Given the description of an element on the screen output the (x, y) to click on. 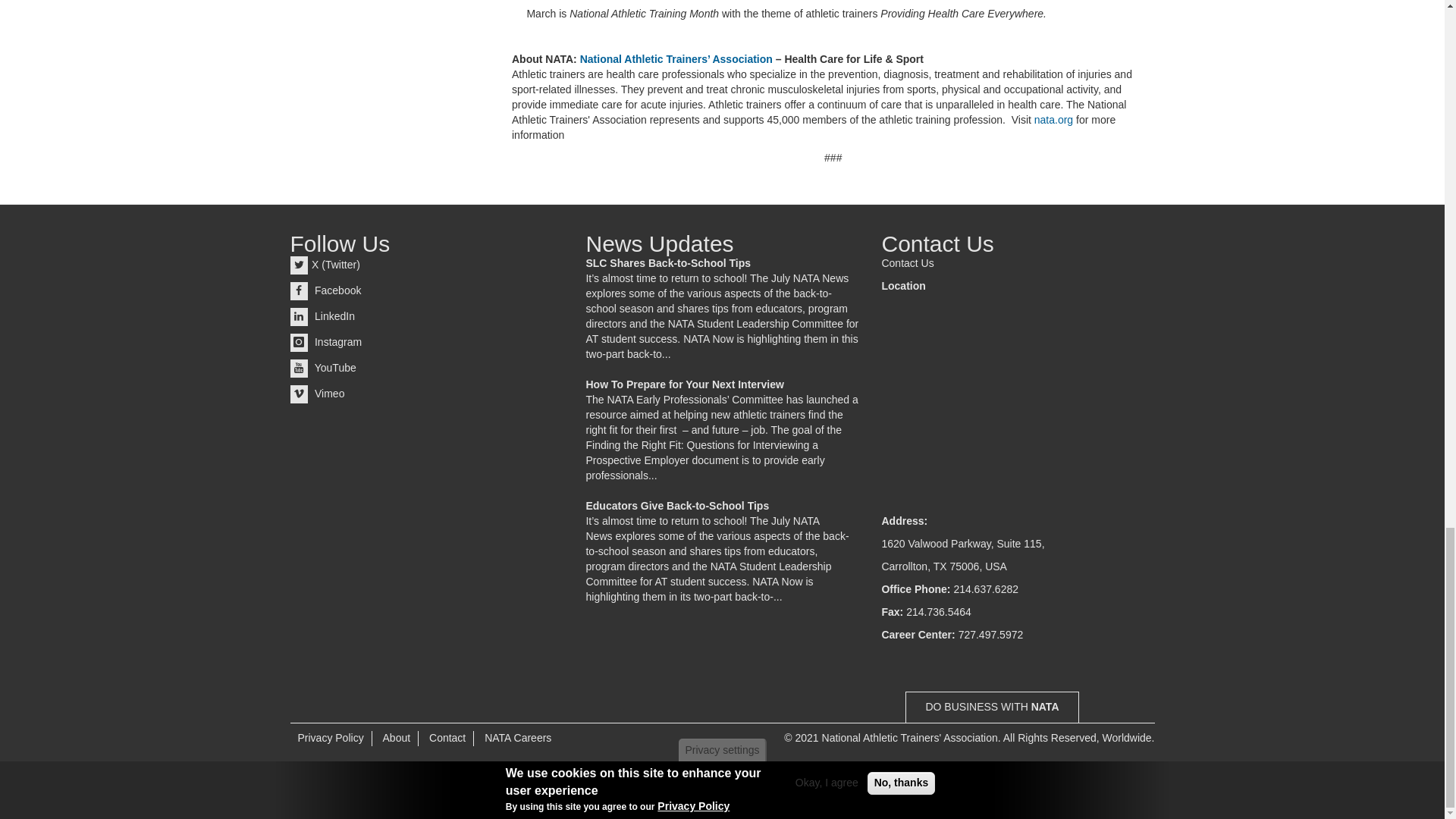
icon-twitter (298, 265)
icon-facebook (298, 290)
icon-linkedin (298, 316)
social-youtube-1 (298, 368)
social-instagram (298, 342)
icon-vimeo (298, 393)
